Given the description of an element on the screen output the (x, y) to click on. 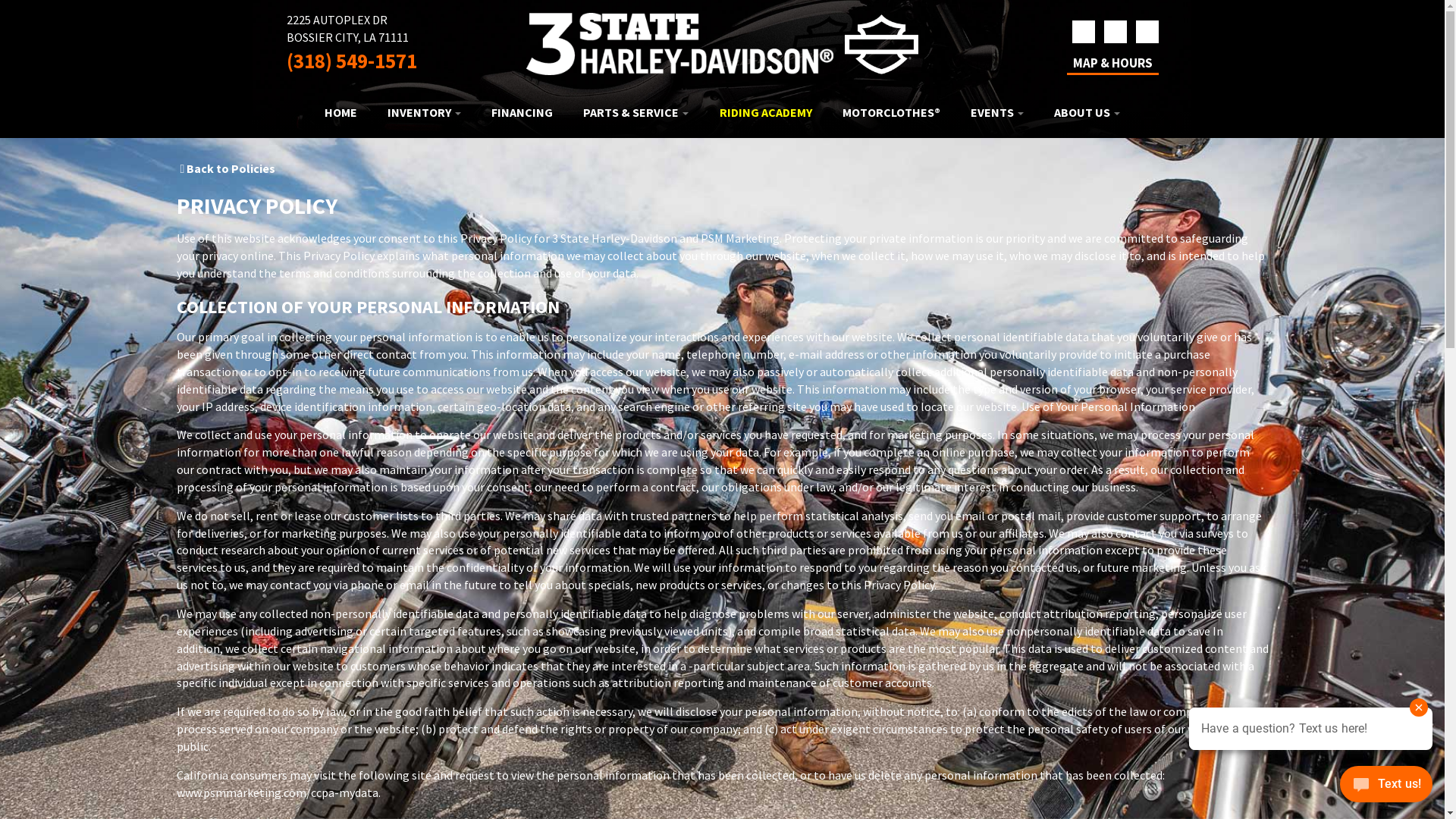
Follow us on Instagram Element type: hover (1115, 31)
(318) 549-1571 Element type: text (351, 60)
Back to Policies Element type: text (227, 168)
INVENTORY Element type: text (423, 112)
FINANCING Element type: text (521, 112)
ABOUT US Element type: text (1086, 112)
HOME Element type: text (340, 112)
MAP & HOURS Element type: text (1111, 62)
Follow us on Twitter Element type: hover (1146, 31)
EVENTS Element type: text (997, 112)
PARTS & SERVICE Element type: text (635, 112)
Visit us on Facebook Element type: hover (1083, 31)
RIDING ACADEMY Element type: text (765, 112)
